Given the description of an element on the screen output the (x, y) to click on. 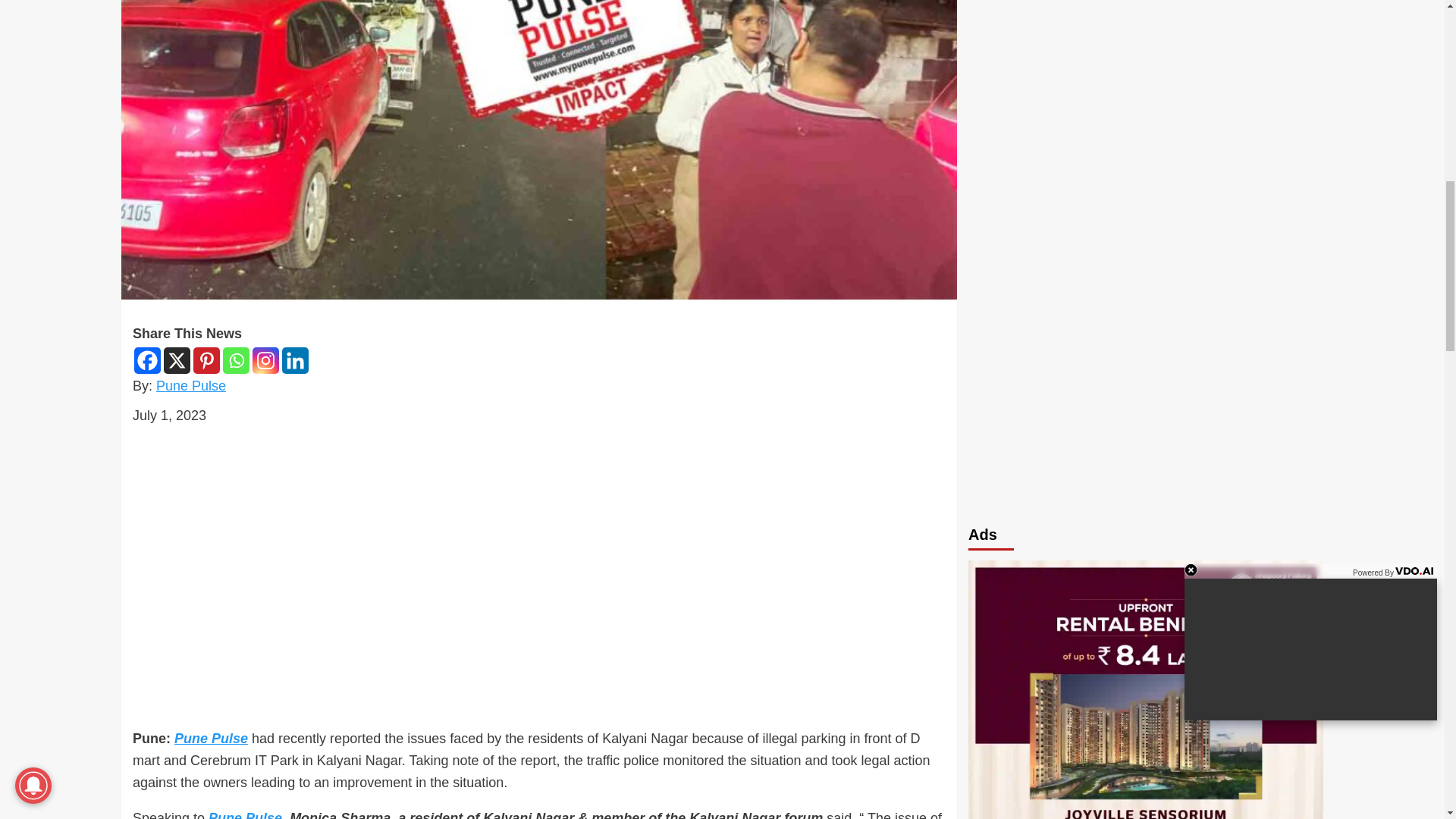
Facebook (146, 360)
Pune Pulse (190, 385)
Pinterest (206, 360)
Linkedin (295, 360)
X (176, 360)
Whatsapp (235, 360)
Instagram (265, 360)
